Given the description of an element on the screen output the (x, y) to click on. 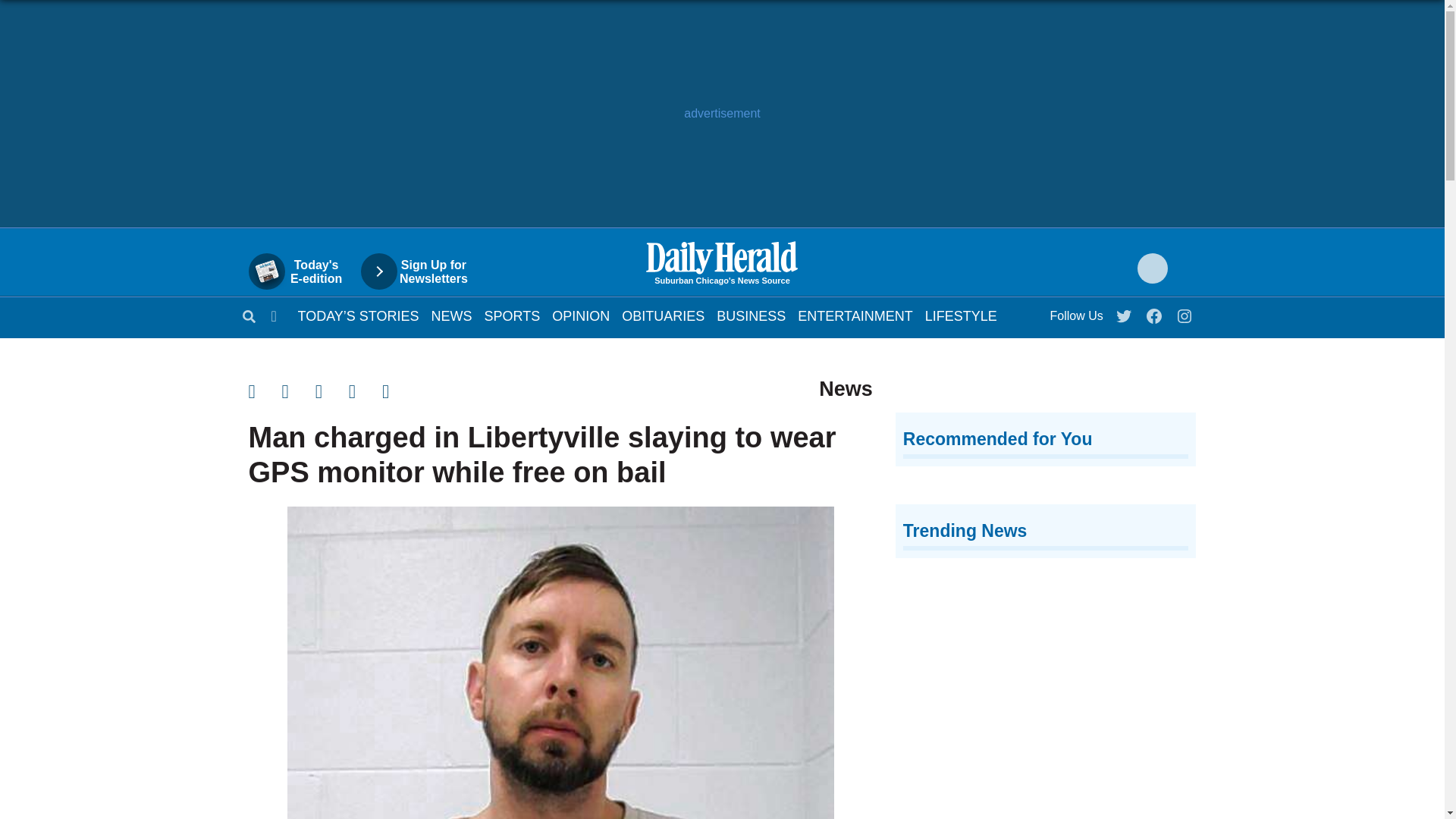
Twitter (1124, 312)
Share via Email (332, 424)
OPINION (580, 315)
Sports (512, 315)
Today's Stories (358, 315)
SPORTS (512, 315)
Opinion (580, 315)
News (303, 271)
Sign Up for Newsletters (450, 315)
Lifestyle (421, 271)
LIFESTYLE (960, 315)
NEWS (960, 315)
Entertainment (450, 315)
Business (854, 315)
